Given the description of an element on the screen output the (x, y) to click on. 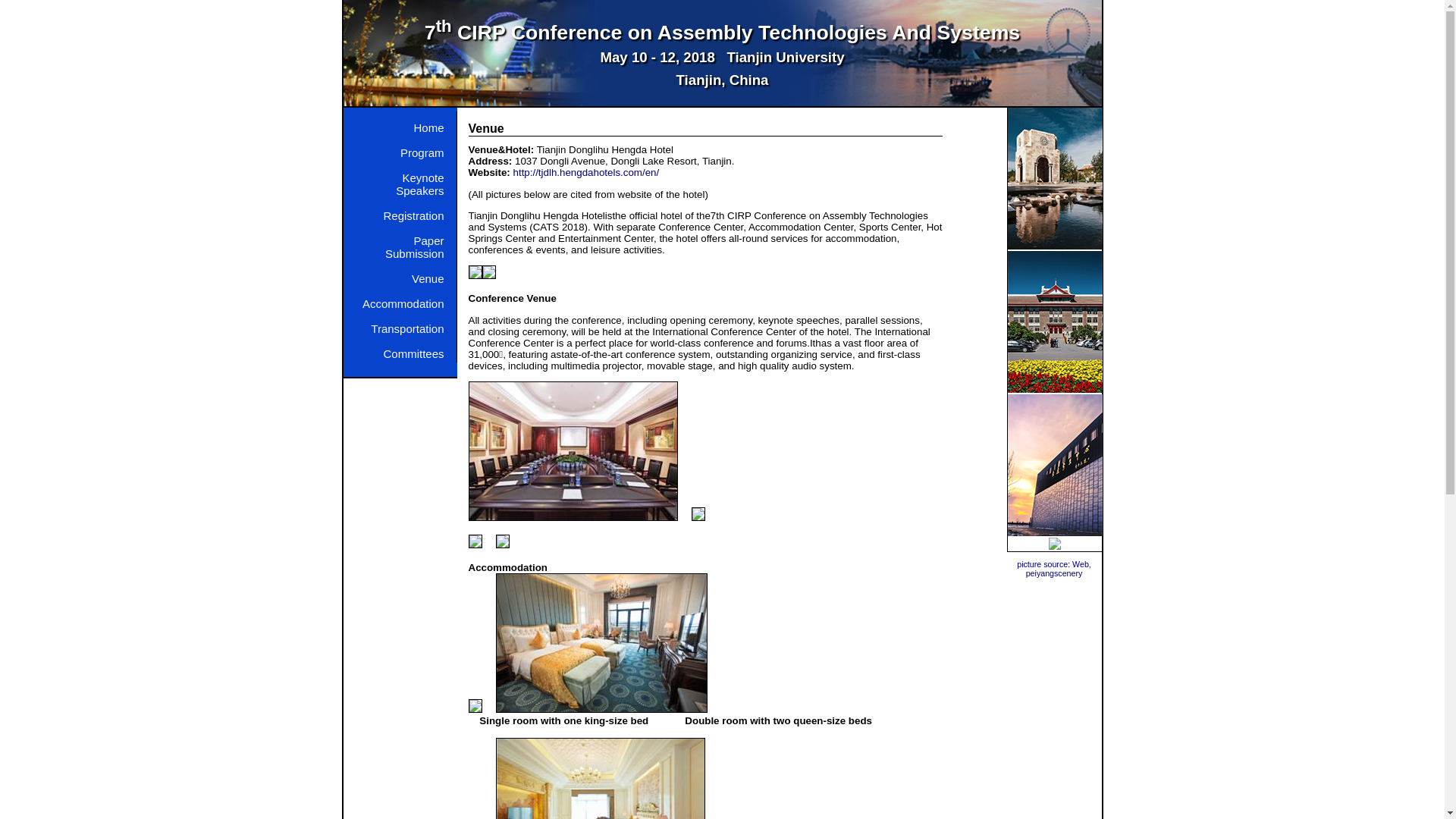
Venue Element type: text (398, 274)
picture source: Web, peiyangscenery Element type: text (1053, 568)
7th CIRP Conference on Assembly Technologies And Systems Element type: text (721, 32)
Accommodation Element type: text (398, 299)
Home Element type: text (398, 123)
Program Element type: text (398, 148)
Keynote Speakers Element type: text (398, 180)
Transportation Element type: text (398, 324)
Committees Element type: text (398, 349)
Registration Element type: text (398, 211)
http://tjdlh.hengdahotels.com/en/ Element type: text (586, 172)
Paper Submission Element type: text (398, 243)
